Given the description of an element on the screen output the (x, y) to click on. 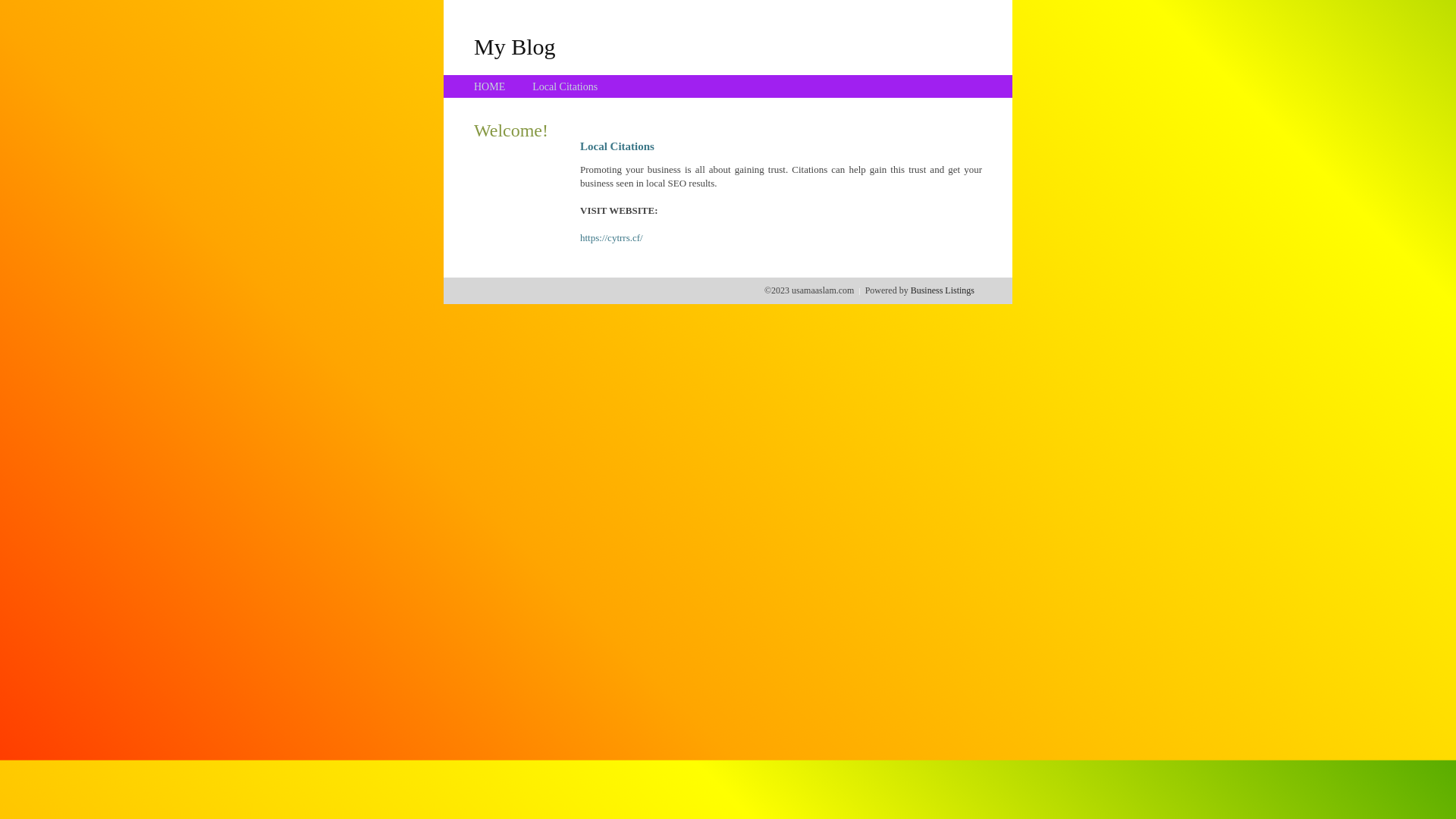
Local Citations Element type: text (564, 86)
HOME Element type: text (489, 86)
Business Listings Element type: text (942, 290)
https://cytrrs.cf/ Element type: text (611, 237)
My Blog Element type: text (514, 46)
